Given the description of an element on the screen output the (x, y) to click on. 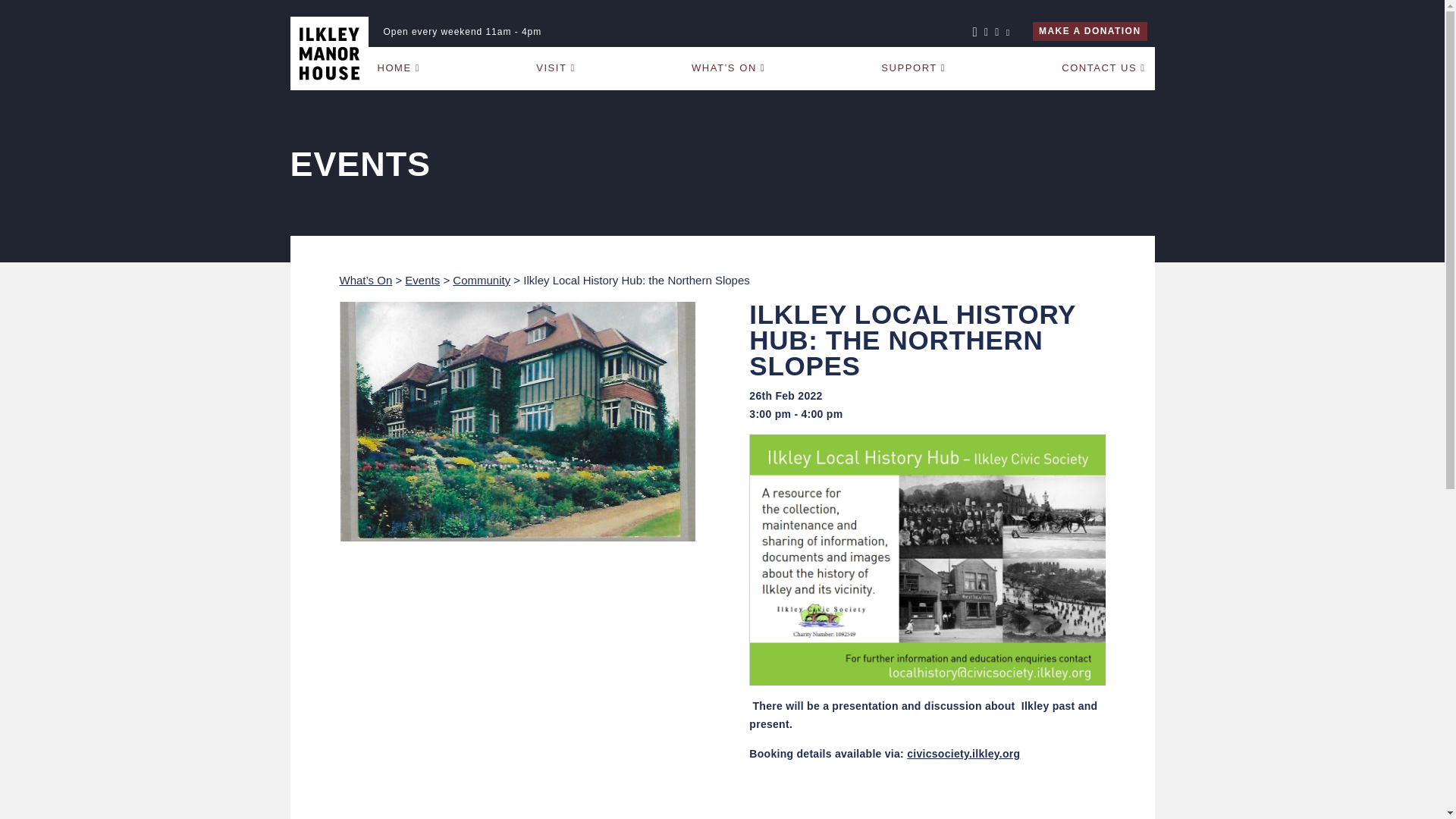
HOME (398, 67)
Go to the Community Event Category archives. (481, 279)
Community (481, 279)
Events (421, 279)
SUPPORT (913, 67)
MAKE A DONATION (1089, 31)
civicsociety.ilkley.org (963, 753)
VISIT (556, 67)
Ilkley Manor House (328, 53)
CONTACT US (1103, 67)
